Given the description of an element on the screen output the (x, y) to click on. 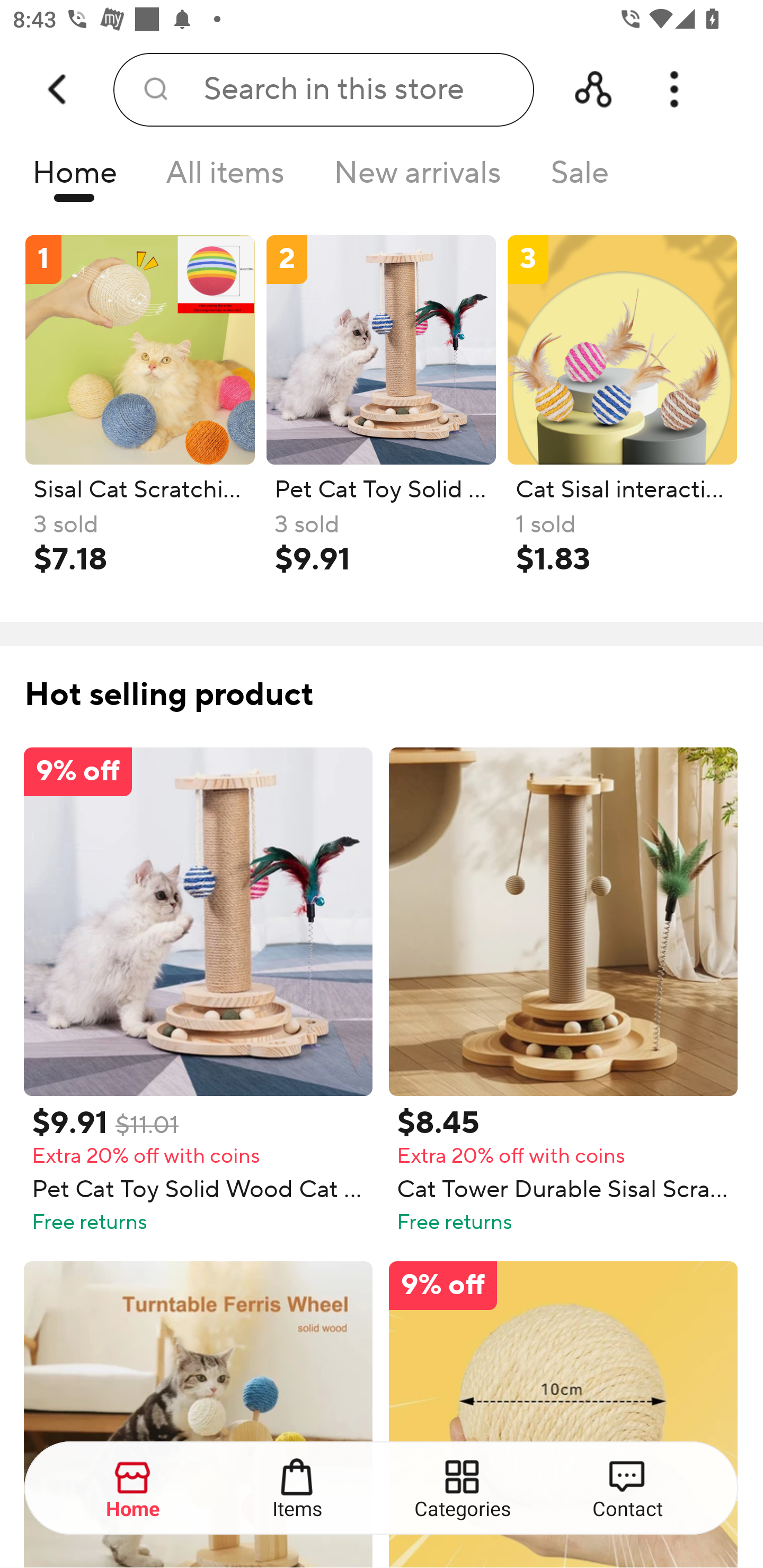
Search in this store (323, 90)
Home (74, 177)
All items (225, 177)
New arrivals
 (418, 177)
Sale (579, 177)
9% off (563, 1414)
Home (133, 1488)
Items (297, 1488)
Categories (462, 1488)
Contact (627, 1488)
